Given the description of an element on the screen output the (x, y) to click on. 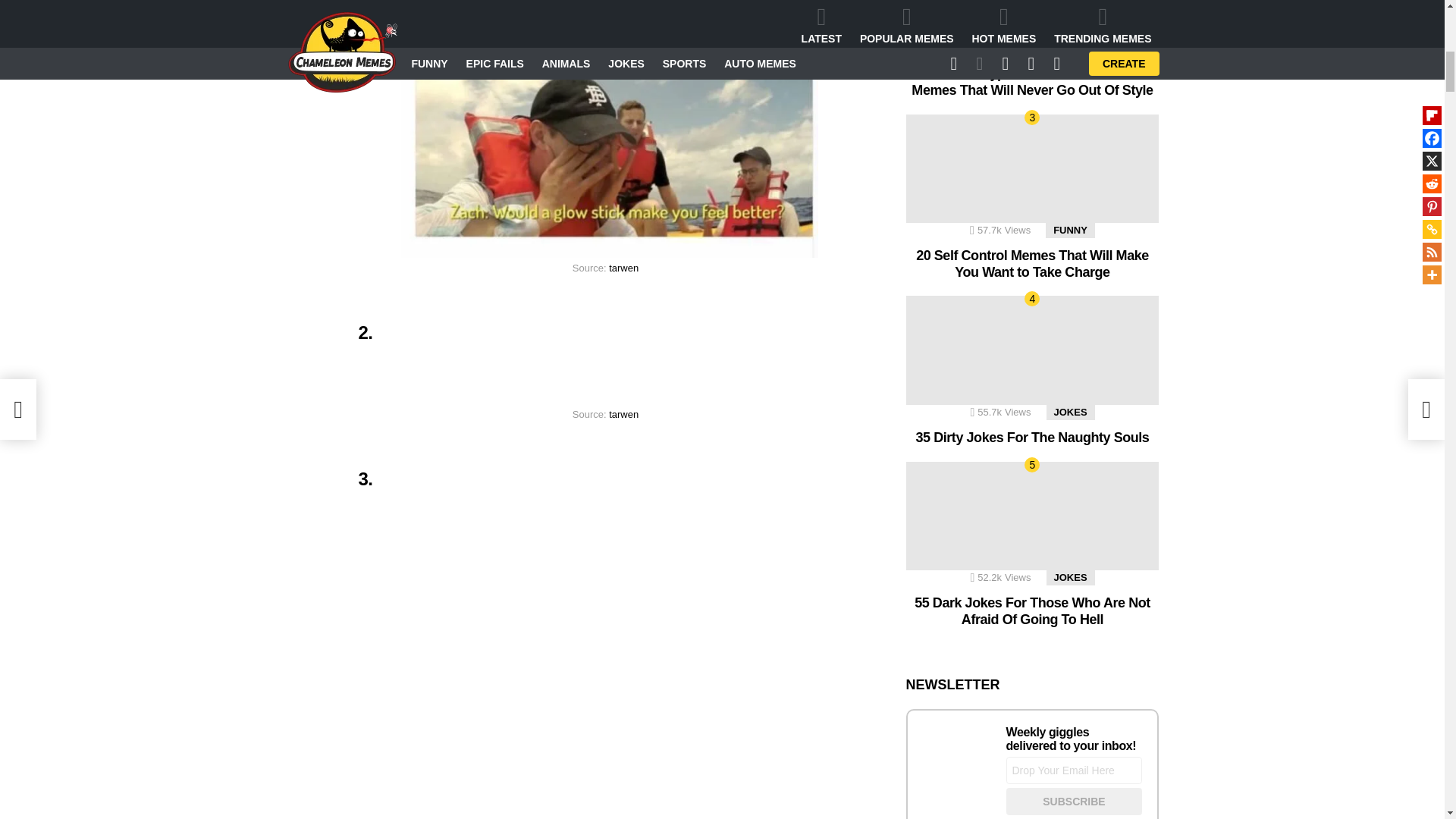
Subscribe (1073, 800)
